Given the description of an element on the screen output the (x, y) to click on. 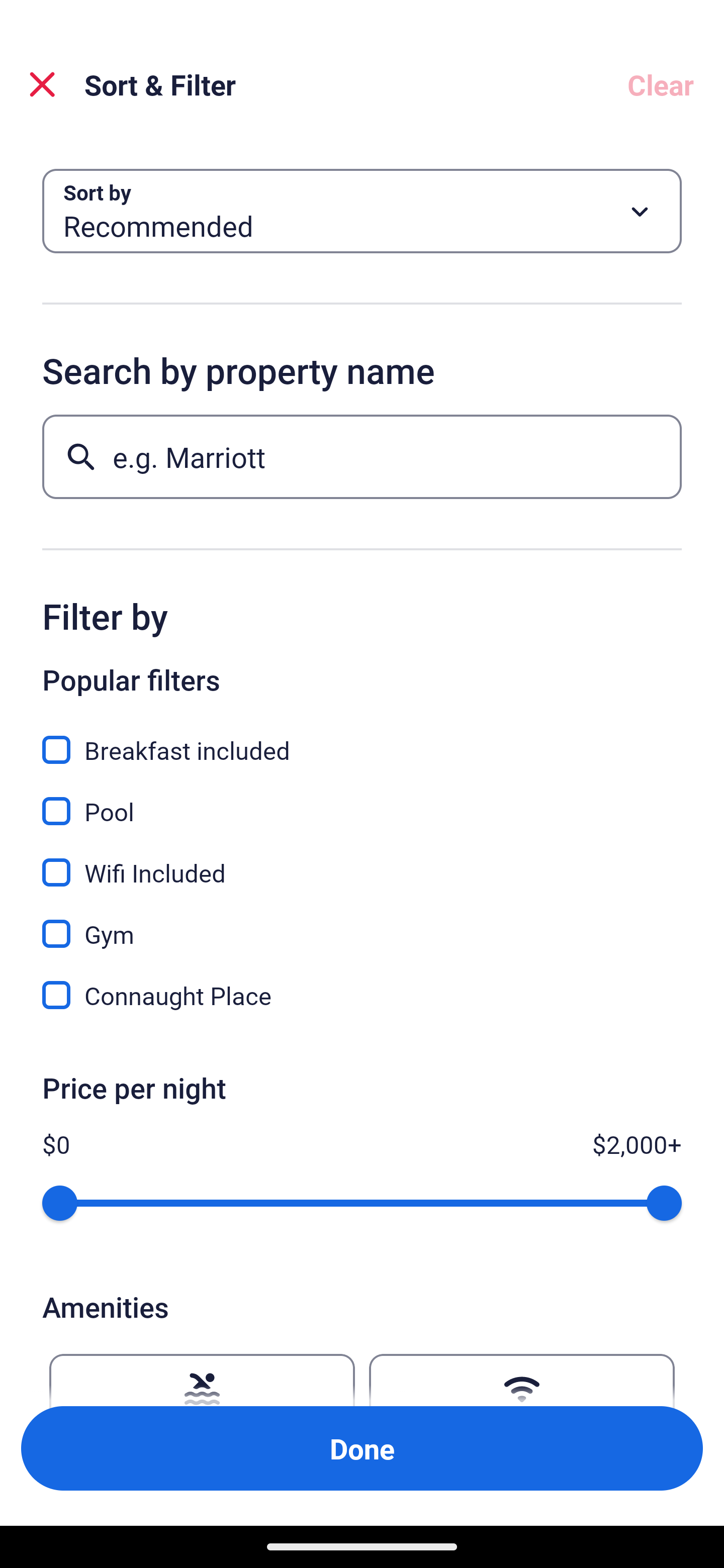
Close Sort and Filter (42, 84)
Clear (660, 84)
Sort by Button Recommended (361, 211)
e.g. Marriott Button (361, 455)
Breakfast included, Breakfast included (361, 738)
Pool, Pool (361, 800)
Wifi Included, Wifi Included (361, 861)
Gym, Gym (361, 922)
Connaught Place, Connaught Place (361, 995)
Apply and close Sort and Filter Done (361, 1448)
